Given the description of an element on the screen output the (x, y) to click on. 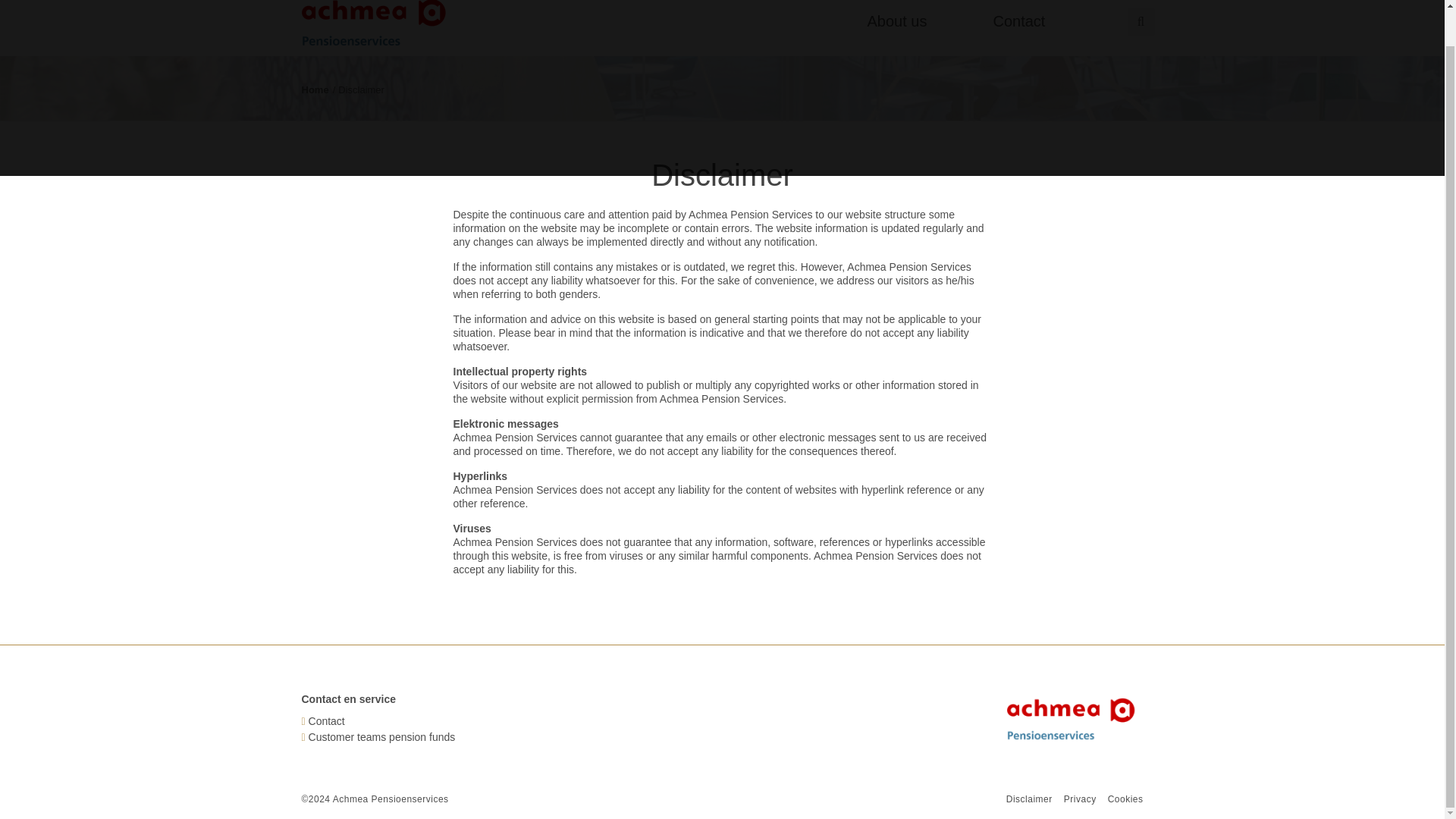
About us (921, 25)
Contact (1047, 25)
Customer teams pension funds (381, 736)
logo Achmea Pensioenservices (378, 23)
Privacy (1080, 799)
Home (315, 89)
Contact (326, 720)
Cookies (1125, 799)
Disclaimer (1029, 799)
